Given the description of an element on the screen output the (x, y) to click on. 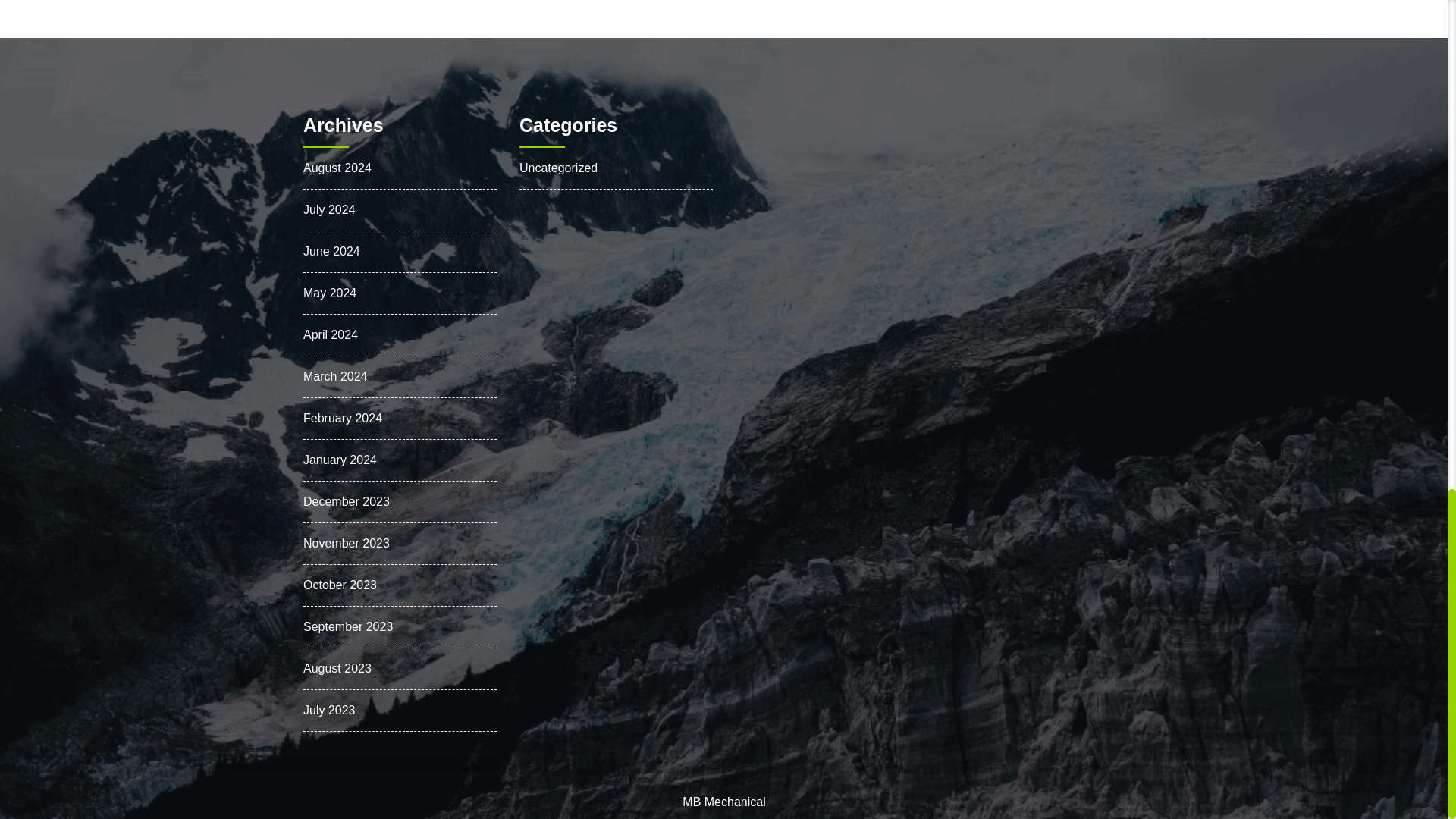
August 2024 (336, 167)
December 2023 (346, 501)
March 2024 (335, 376)
Uncategorized (557, 167)
July 2023 (328, 709)
October 2023 (339, 584)
November 2023 (346, 543)
April 2024 (330, 334)
September 2023 (347, 626)
January 2024 (339, 459)
February 2024 (341, 418)
July 2024 (328, 209)
August 2023 (336, 667)
June 2024 (330, 250)
May 2024 (329, 292)
